Given the description of an element on the screen output the (x, y) to click on. 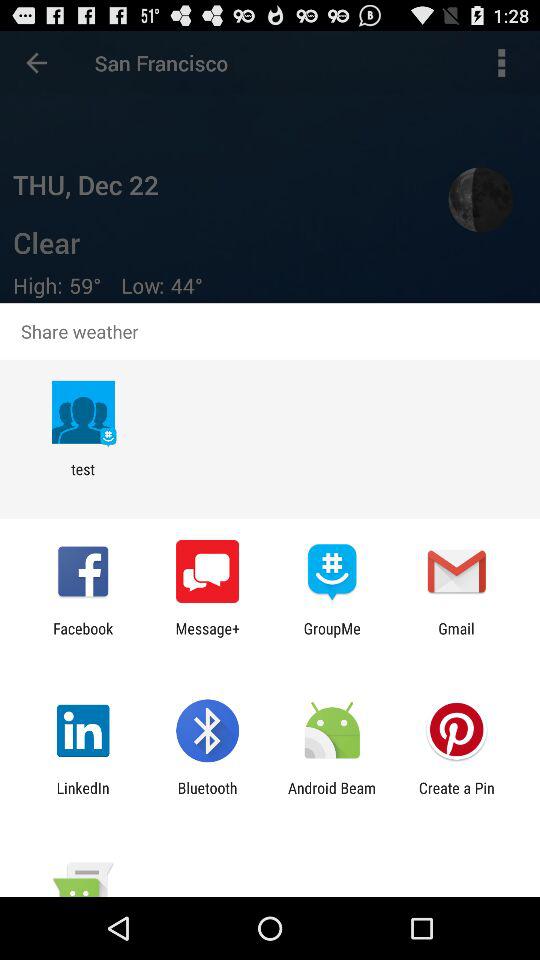
turn on icon to the left of the message+ icon (83, 637)
